Given the description of an element on the screen output the (x, y) to click on. 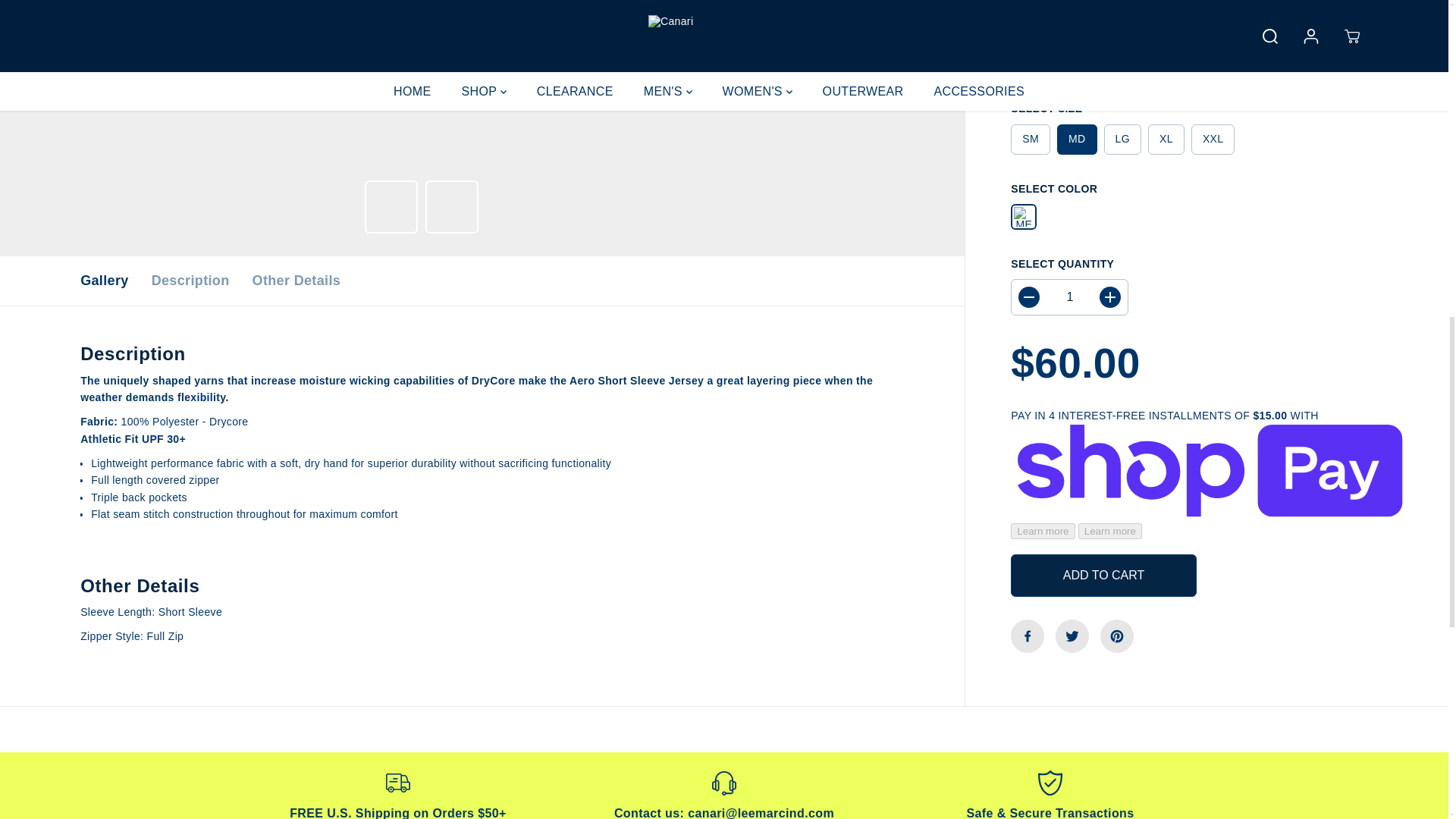
Twitter (1072, 3)
Facebook (1026, 3)
Pinterest (1117, 3)
